Given the description of an element on the screen output the (x, y) to click on. 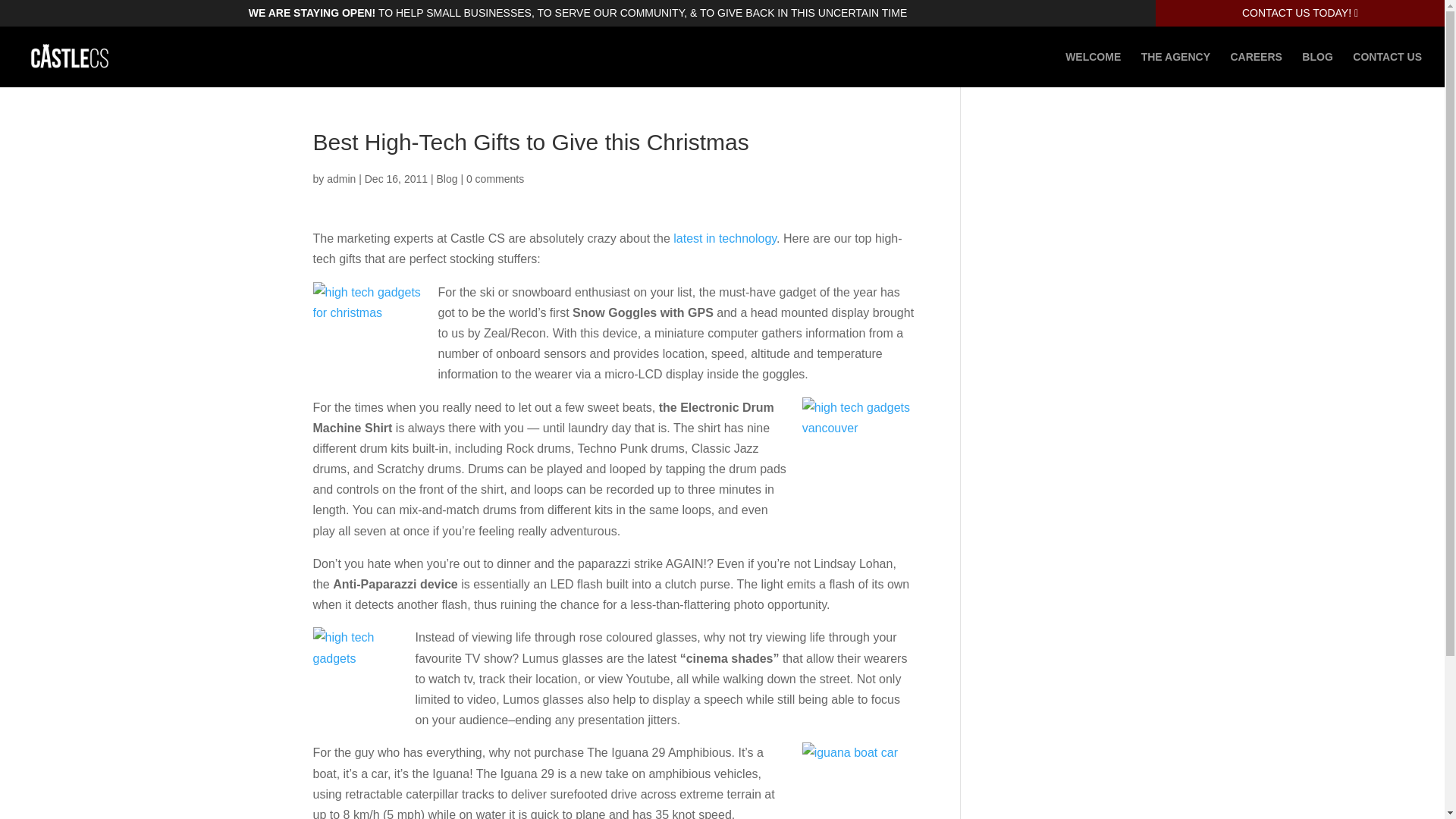
latest in technology (724, 237)
0 comments (494, 178)
Blog (446, 178)
CONTACT US TODAY! (1299, 12)
WELCOME (1093, 68)
admin (340, 178)
high tech gadgets vancouver (858, 454)
Posts by admin (340, 178)
THE AGENCY (1175, 68)
high tech gadgets (358, 672)
iguana boat car (858, 780)
high tech gadgets for christmas (369, 338)
BLOG (1316, 68)
CAREERS (1255, 68)
CONTACT US (1387, 68)
